Given the description of an element on the screen output the (x, y) to click on. 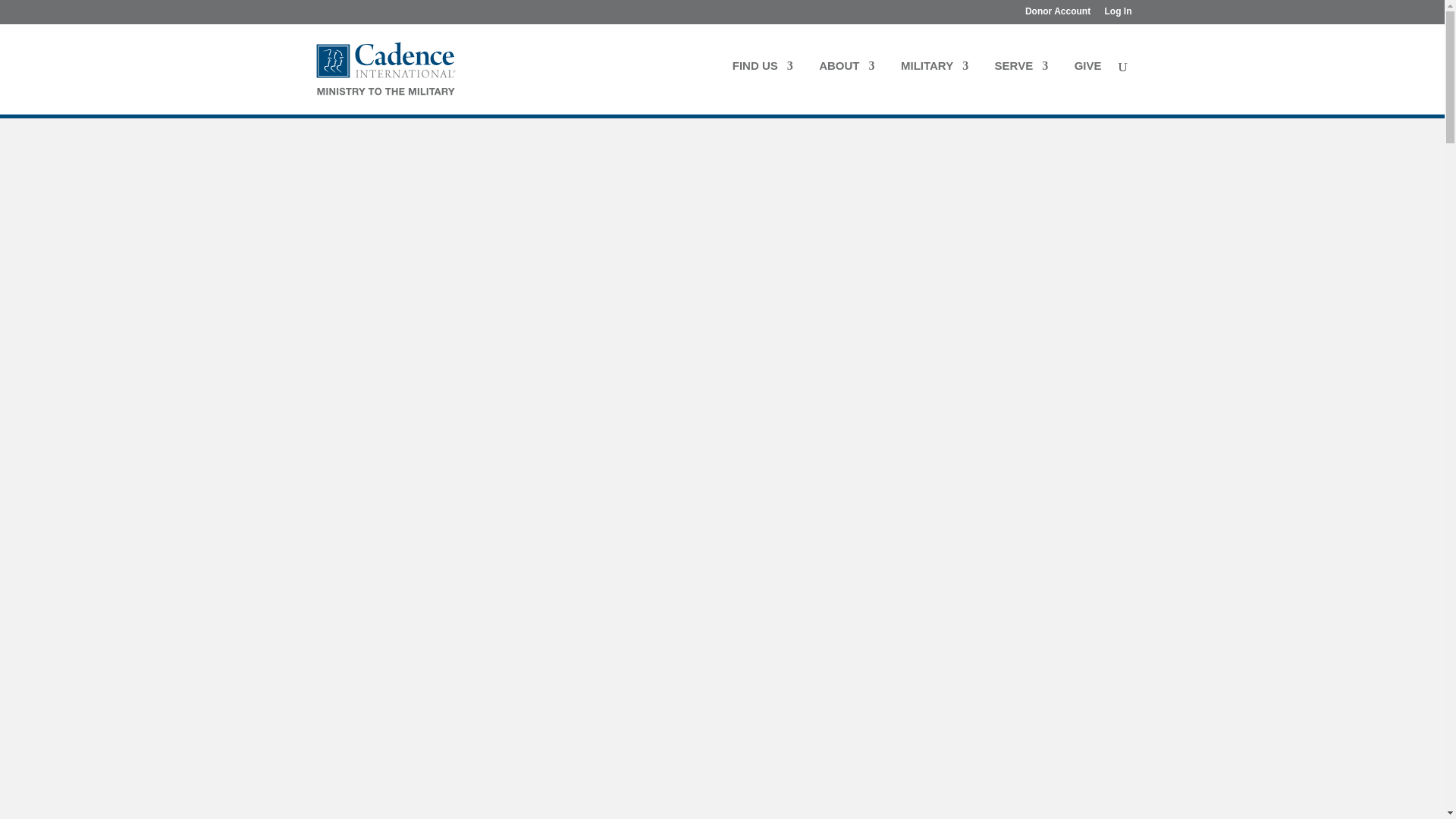
Log In (1117, 14)
MILITARY (934, 84)
FIND US (762, 84)
SERVE (1021, 84)
Donor Account (1057, 14)
ABOUT (846, 84)
